Given the description of an element on the screen output the (x, y) to click on. 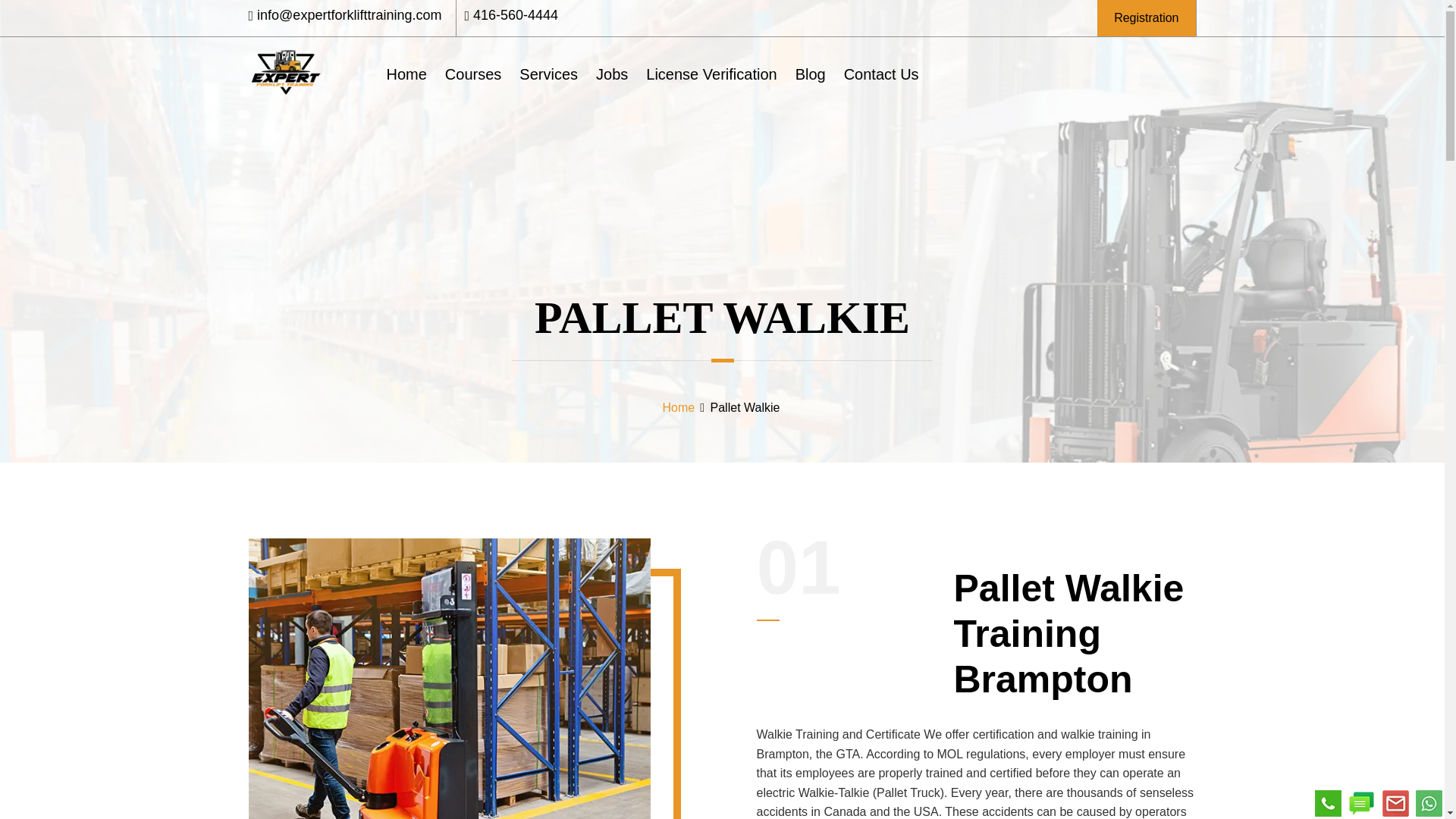
Courses (473, 73)
Contact Us (881, 73)
Registration (1146, 18)
Services (548, 73)
Registration (1145, 17)
Home (678, 407)
Courses (473, 73)
416-560-4444 (515, 14)
License Verification (711, 73)
